Given the description of an element on the screen output the (x, y) to click on. 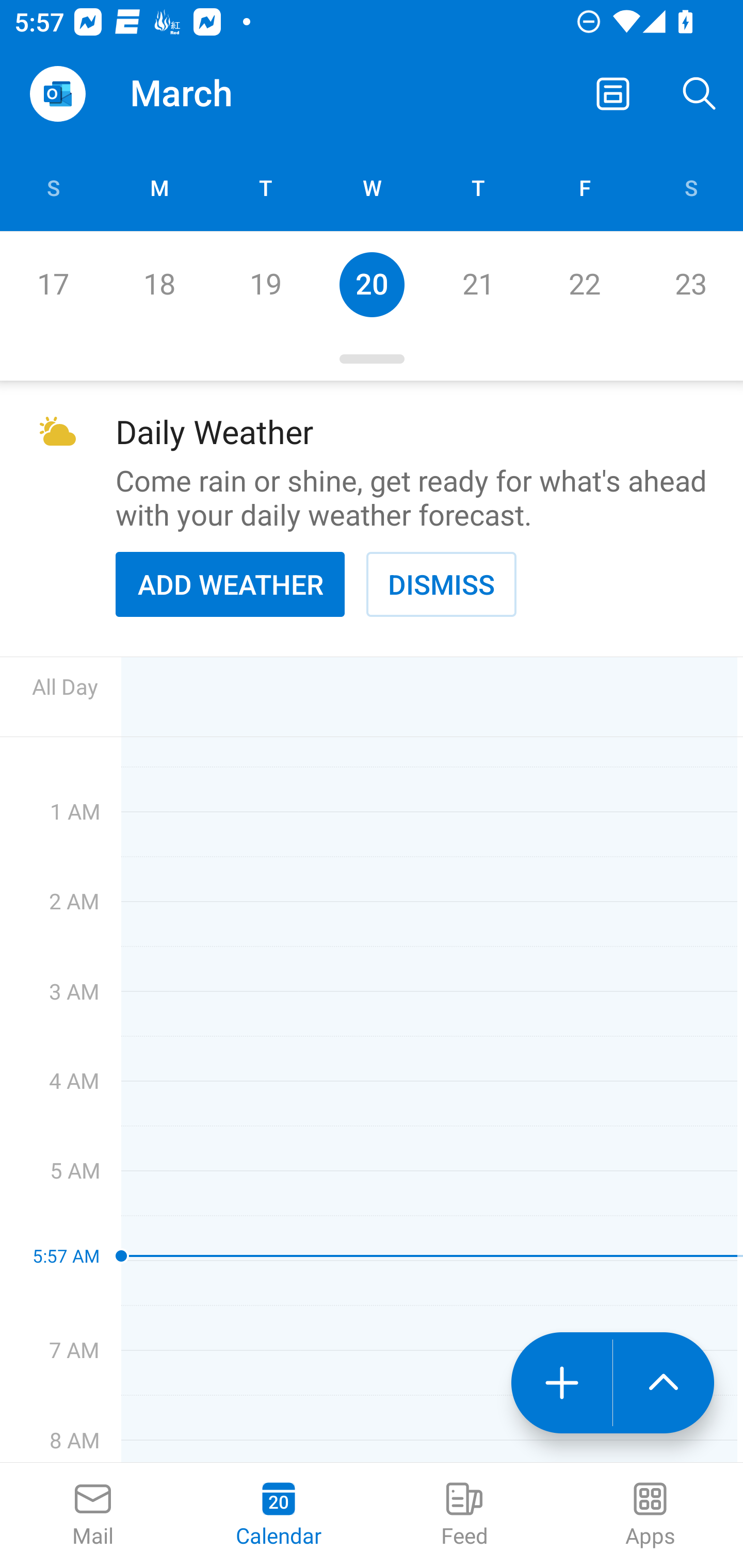
March March 2024, day picker (209, 93)
Switch away from Day view (612, 93)
Search, ,  (699, 93)
Open Navigation Drawer (57, 94)
17 Sunday, March 17 (53, 284)
18 Monday, March 18 (159, 284)
19 Tuesday, March 19 (265, 284)
20 Wednesday, March 20, today, Selected (371, 284)
21 Thursday, March 21 (477, 284)
22 Friday, March 22 (584, 284)
23 Saturday, March 23 (690, 284)
Day picker (371, 359)
ADD WEATHER (230, 583)
DISMISS (440, 583)
New event (561, 1382)
launch the extended action menu (663, 1382)
Mail (92, 1515)
Feed (464, 1515)
Apps (650, 1515)
